Given the description of an element on the screen output the (x, y) to click on. 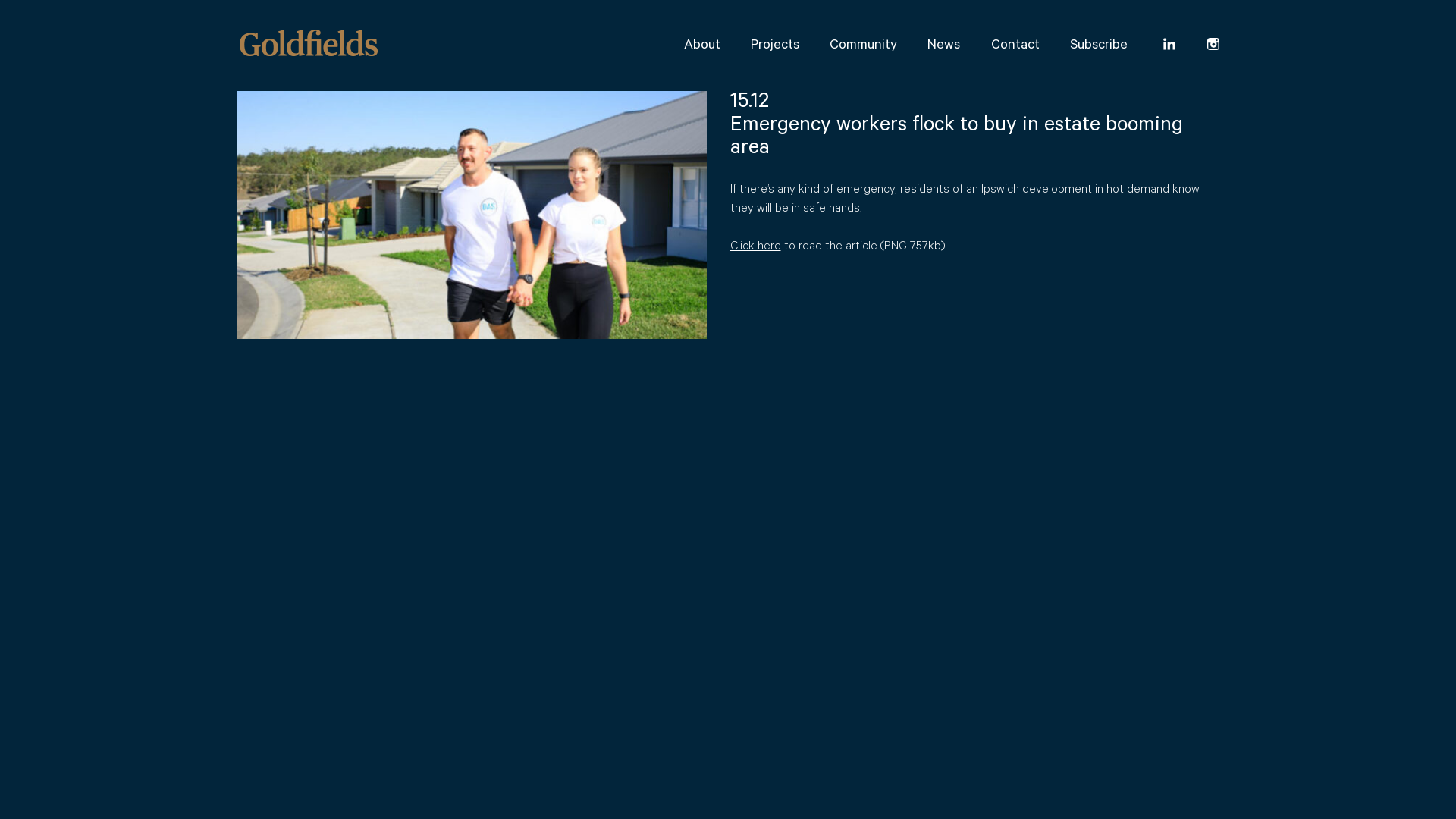
Subscribe Element type: text (1098, 45)
Contact Element type: text (1015, 45)
Linkedin Element type: text (1169, 44)
Click here Element type: text (754, 247)
Community Element type: text (863, 45)
Goldfields Element type: text (307, 42)
Projects Element type: text (774, 45)
About Element type: text (702, 45)
News Element type: text (943, 45)
Instagram Element type: text (1213, 44)
